Given the description of an element on the screen output the (x, y) to click on. 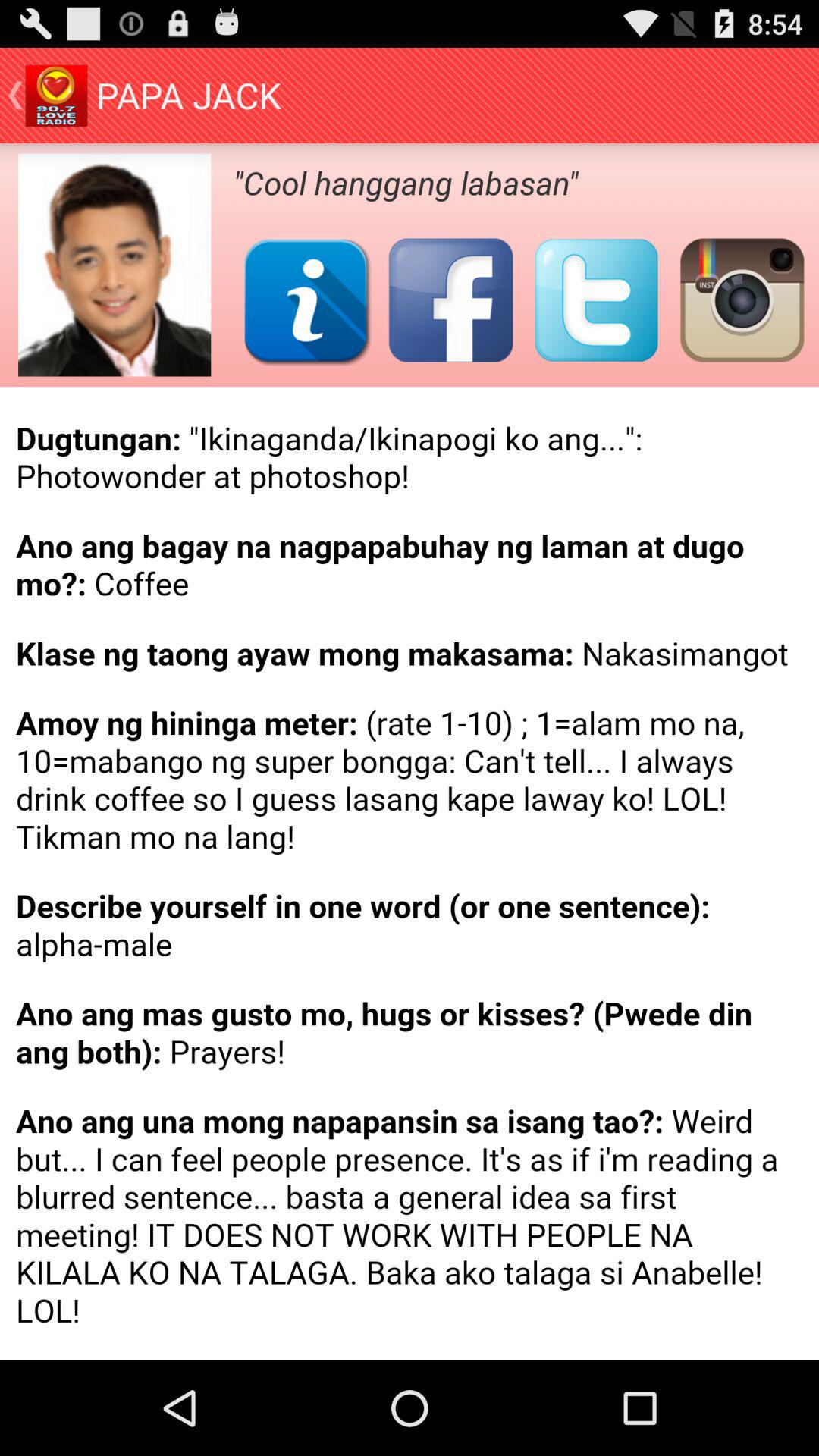
access social network profile (305, 299)
